Given the description of an element on the screen output the (x, y) to click on. 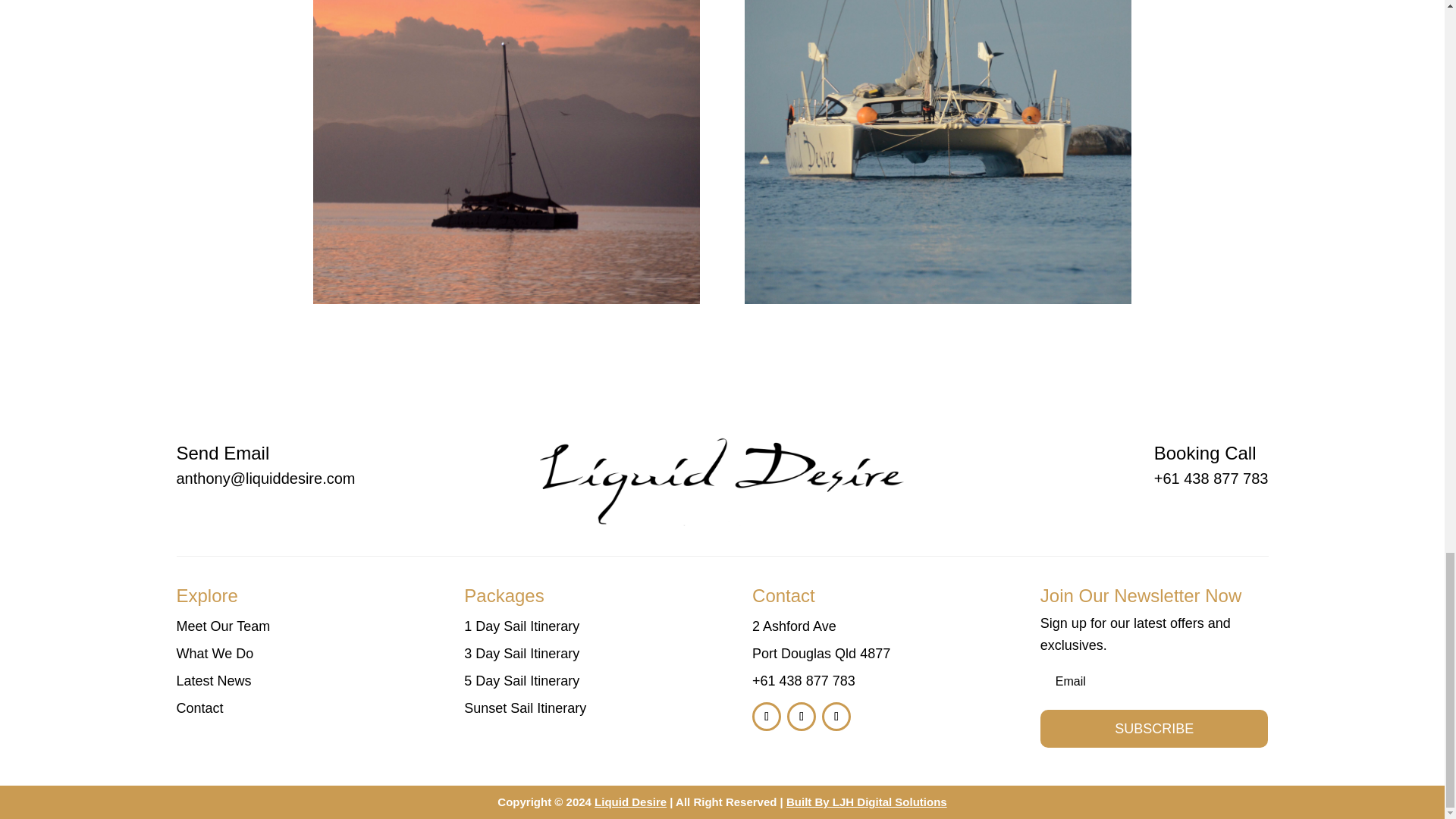
Follow on Instagram (801, 716)
Follow on Facebook (766, 716)
liquiddesirelogo (722, 465)
Follow on Youtube (836, 716)
